Given the description of an element on the screen output the (x, y) to click on. 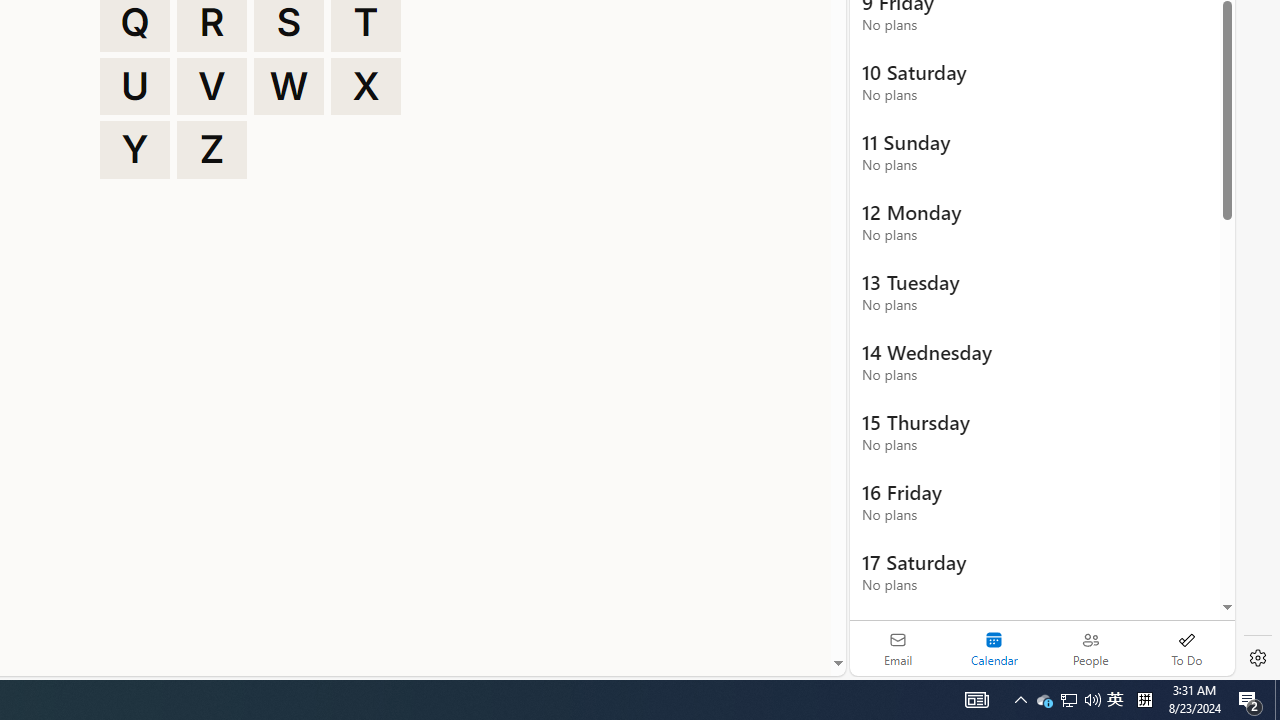
U (134, 85)
X (365, 85)
Settings (1258, 658)
X (365, 85)
Y (134, 149)
V (212, 85)
Email (898, 648)
Z (212, 149)
Selected calendar module. Date today is 22 (994, 648)
